Given the description of an element on the screen output the (x, y) to click on. 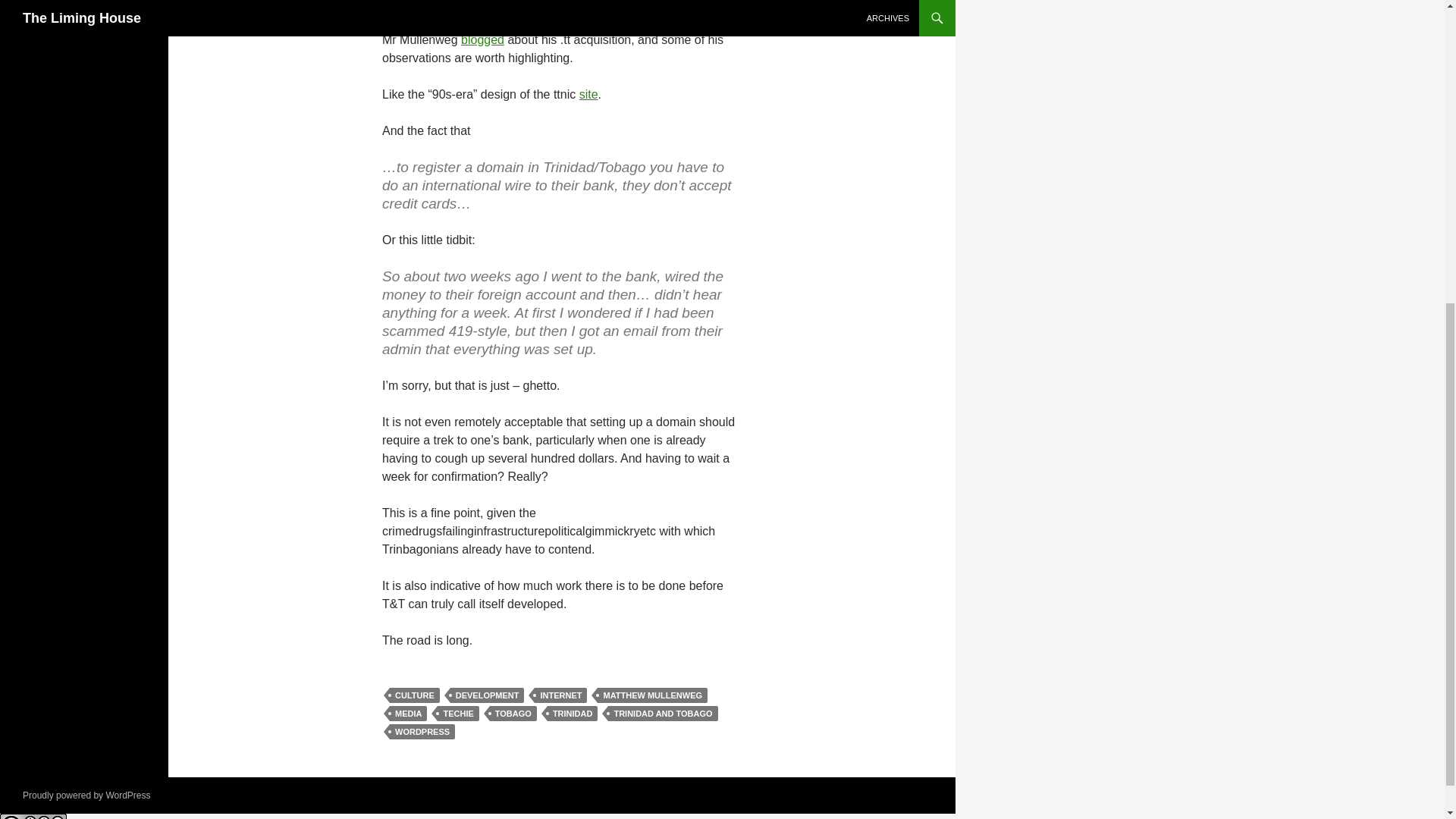
site (588, 93)
TECHIE (458, 713)
WORDPRESS (422, 731)
TOBAGO (513, 713)
TRINIDAD AND TOBAGO (662, 713)
INTERNET (560, 694)
ma.tt. (396, 4)
blogged (482, 39)
MEDIA (408, 713)
CULTURE (414, 694)
